Given the description of an element on the screen output the (x, y) to click on. 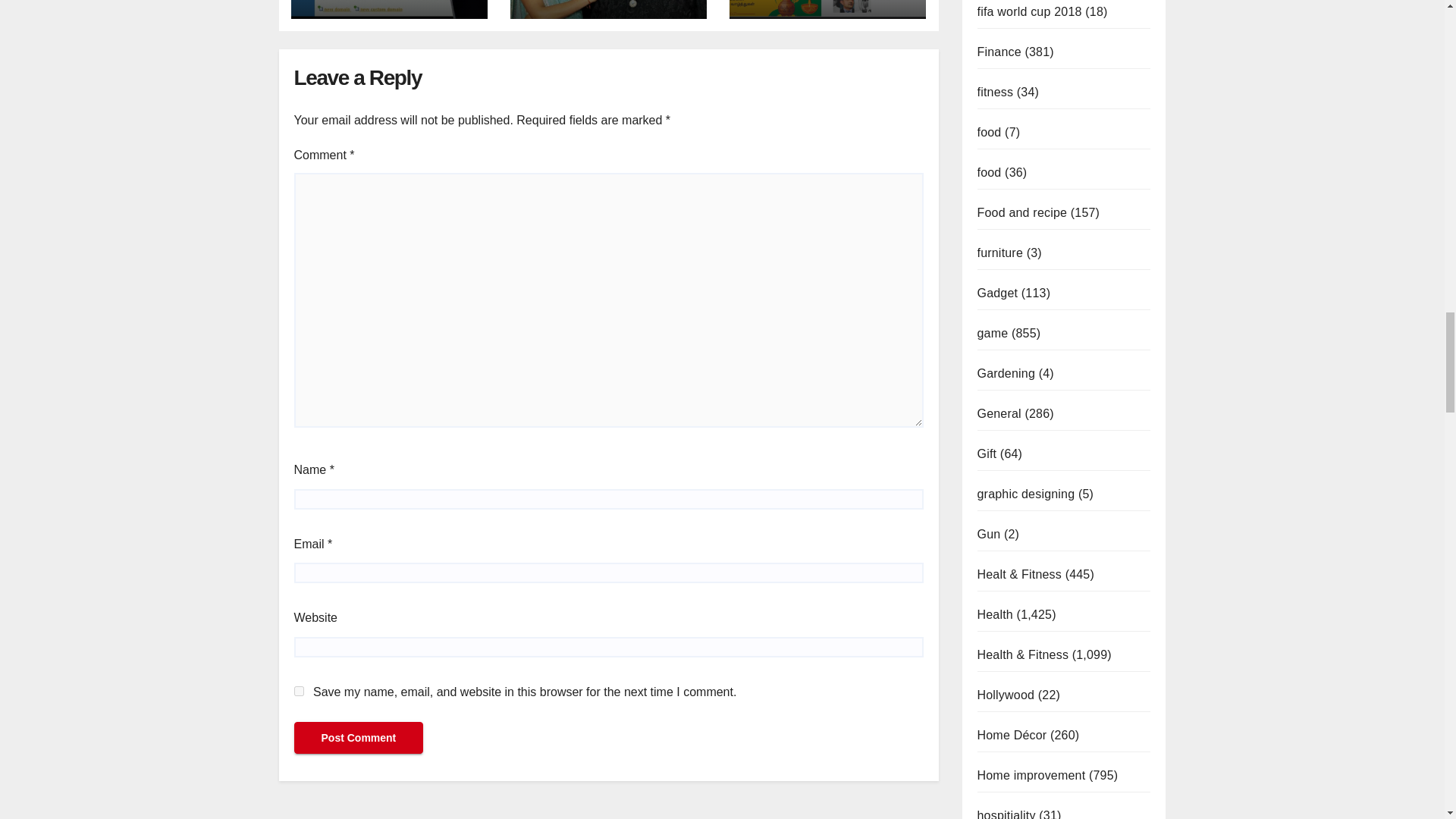
yes (299, 691)
Post Comment (358, 737)
